Given the description of an element on the screen output the (x, y) to click on. 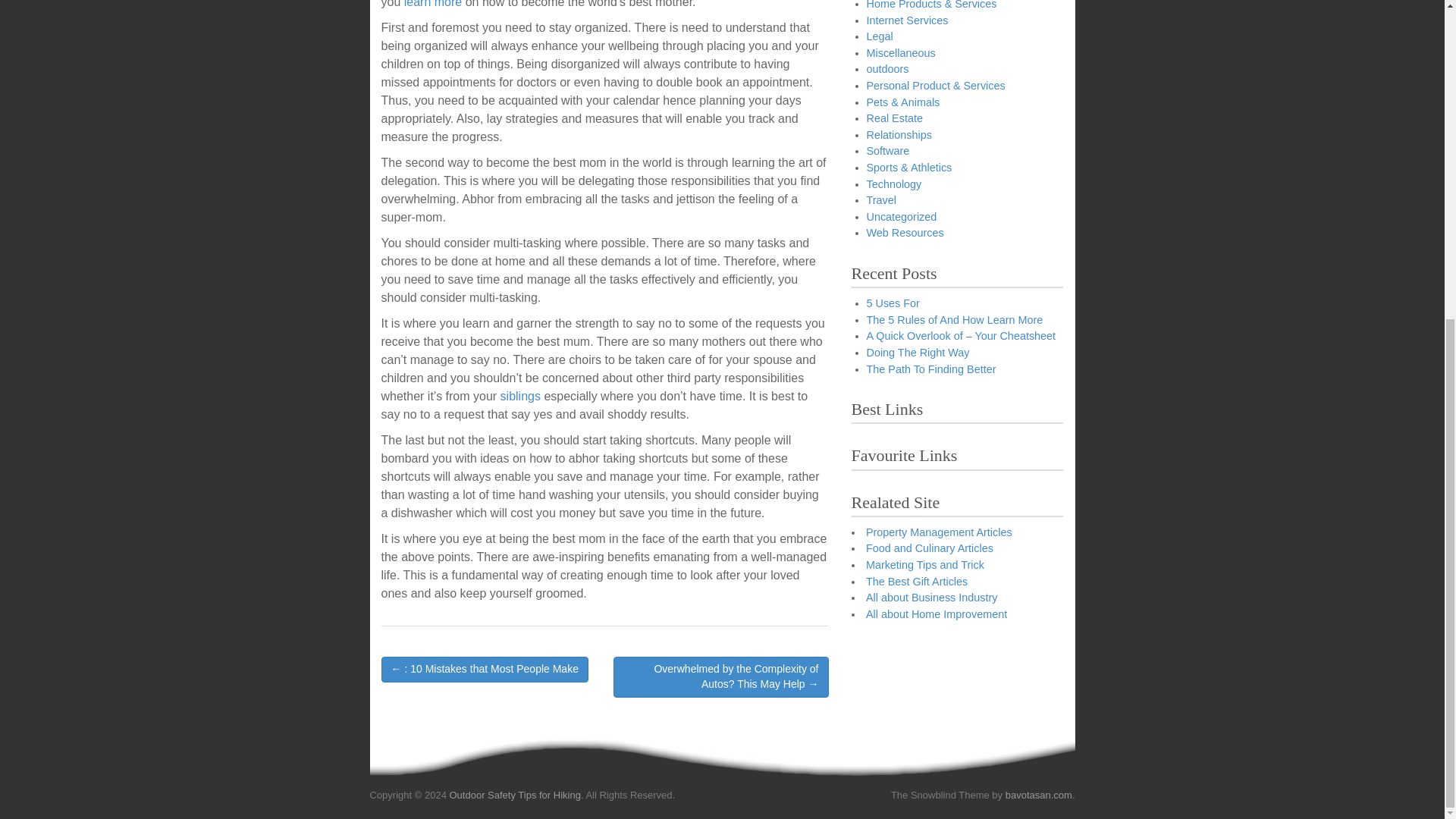
Software (887, 150)
Internet Services (906, 19)
siblings (520, 395)
Uncategorized (901, 216)
Legal (879, 36)
outdoors (887, 69)
Travel (880, 200)
Technology (893, 184)
Miscellaneous (900, 52)
Real Estate (893, 118)
